Given the description of an element on the screen output the (x, y) to click on. 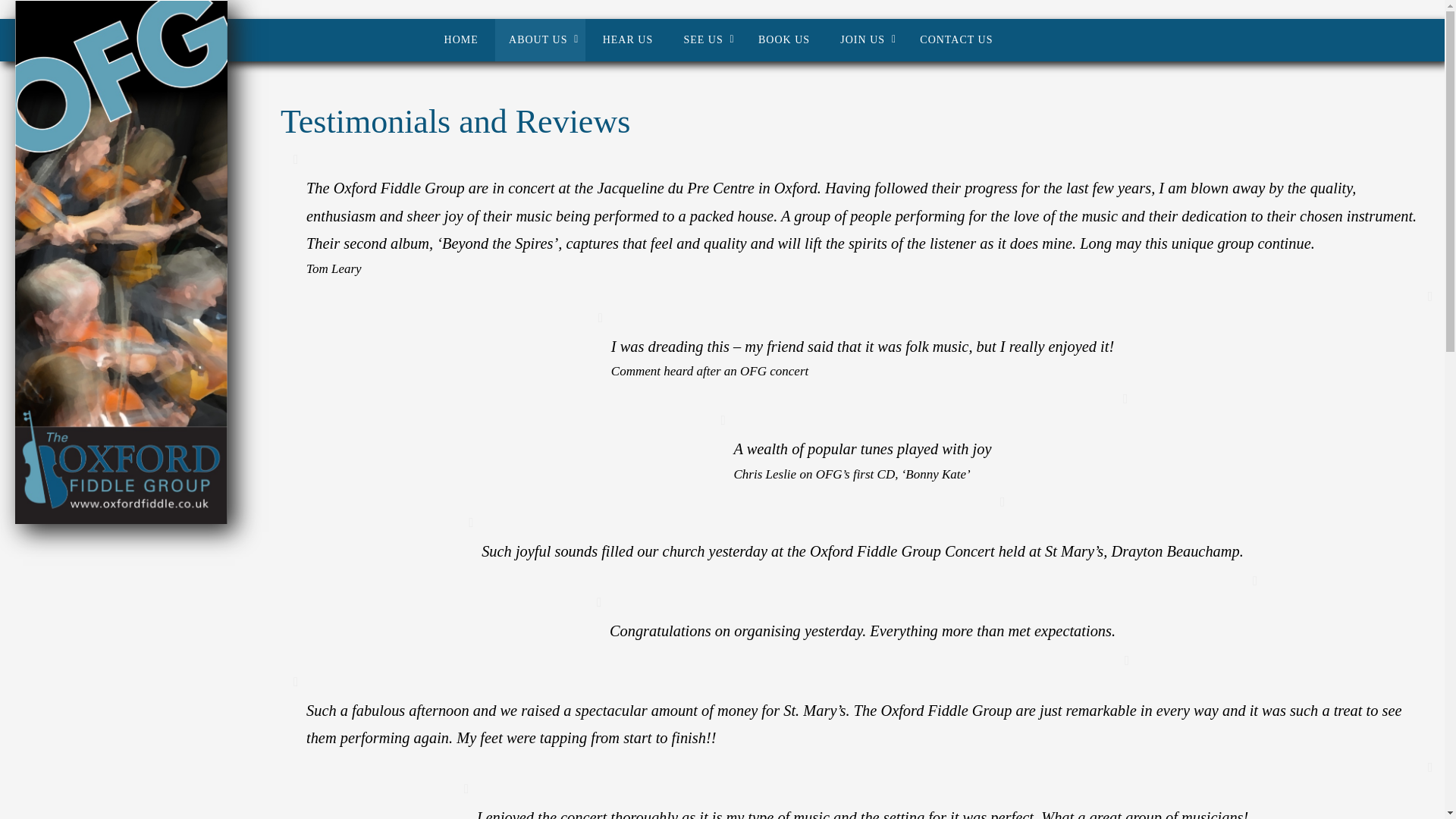
ABOUT US (540, 39)
CONTACT US (955, 39)
JOIN US (864, 39)
SEE US (705, 39)
HOME (461, 39)
BOOK US (784, 39)
HEAR US (627, 39)
